Given the description of an element on the screen output the (x, y) to click on. 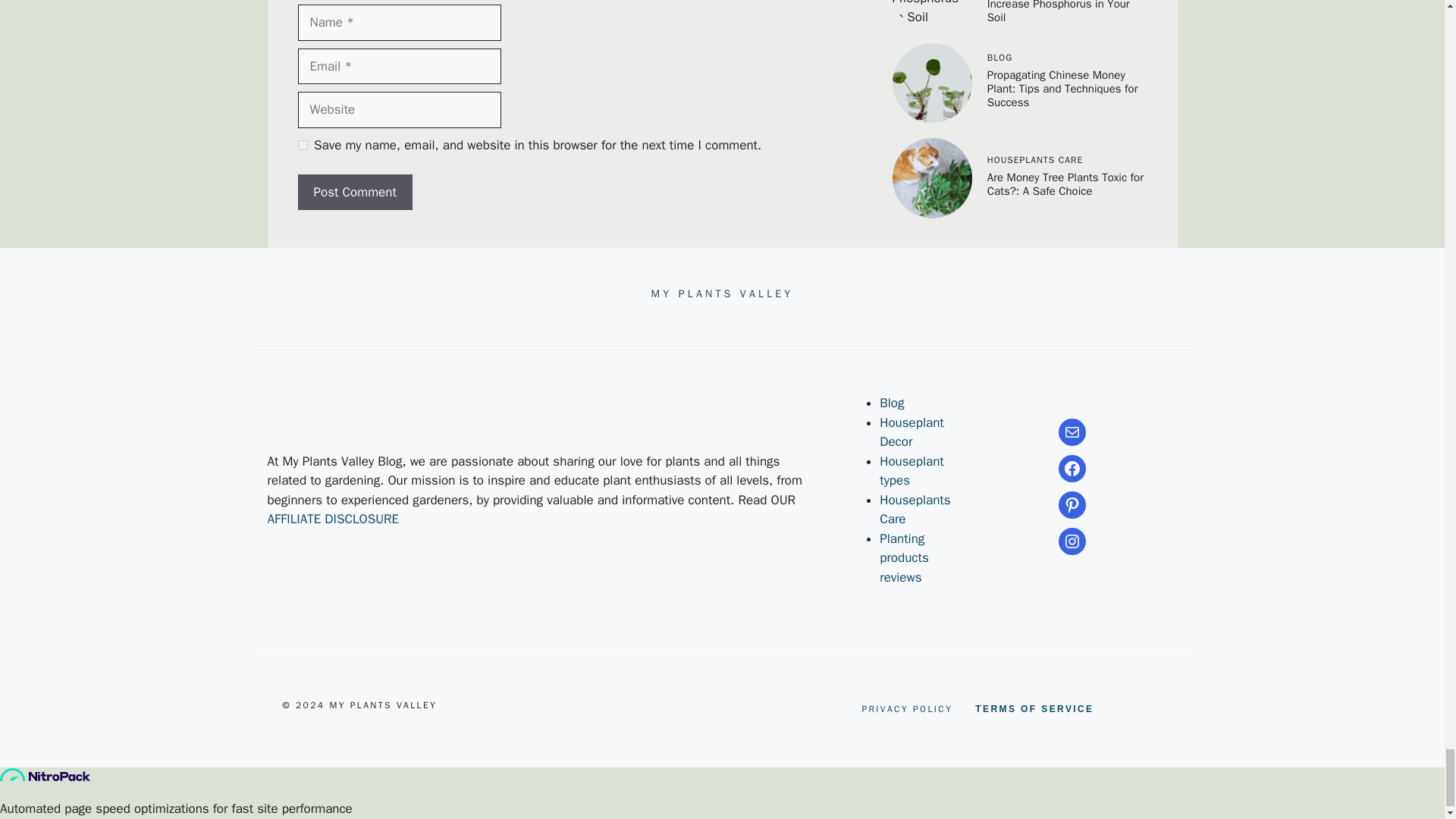
Post Comment (354, 192)
yes (302, 144)
